Given the description of an element on the screen output the (x, y) to click on. 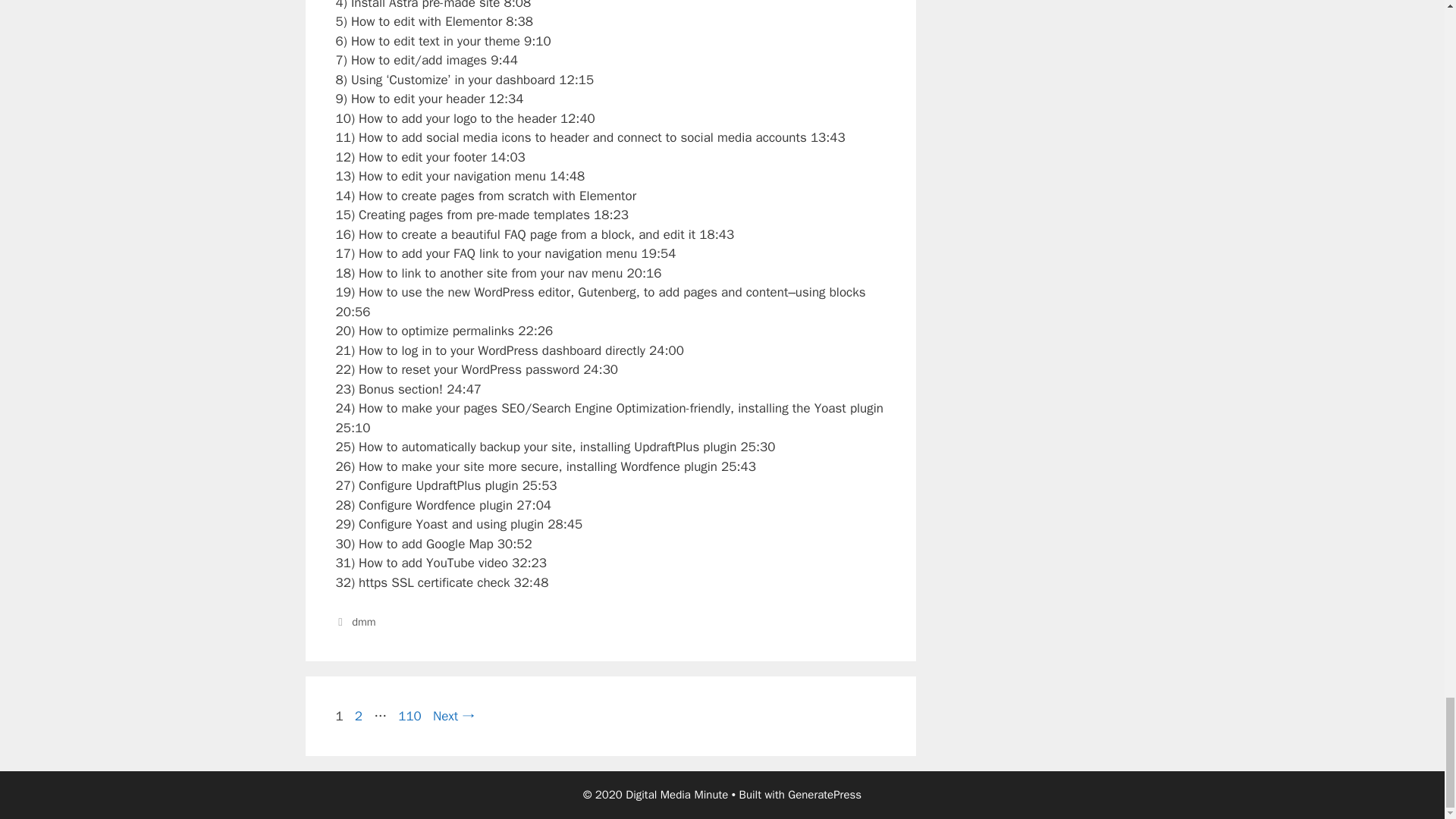
dmm (409, 715)
